Given the description of an element on the screen output the (x, y) to click on. 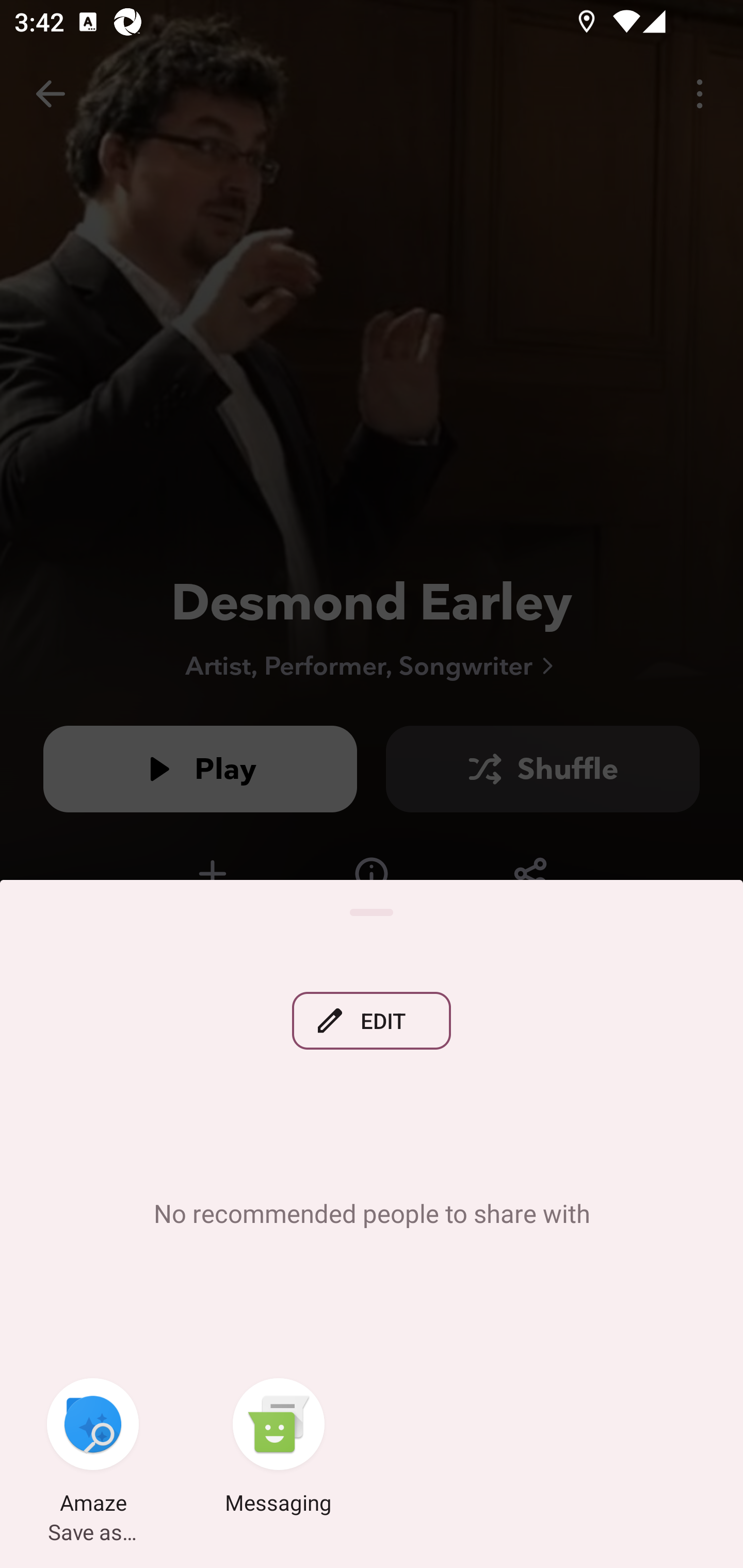
EDIT (371, 1020)
Amaze Save as… (92, 1448)
Messaging (278, 1448)
